Given the description of an element on the screen output the (x, y) to click on. 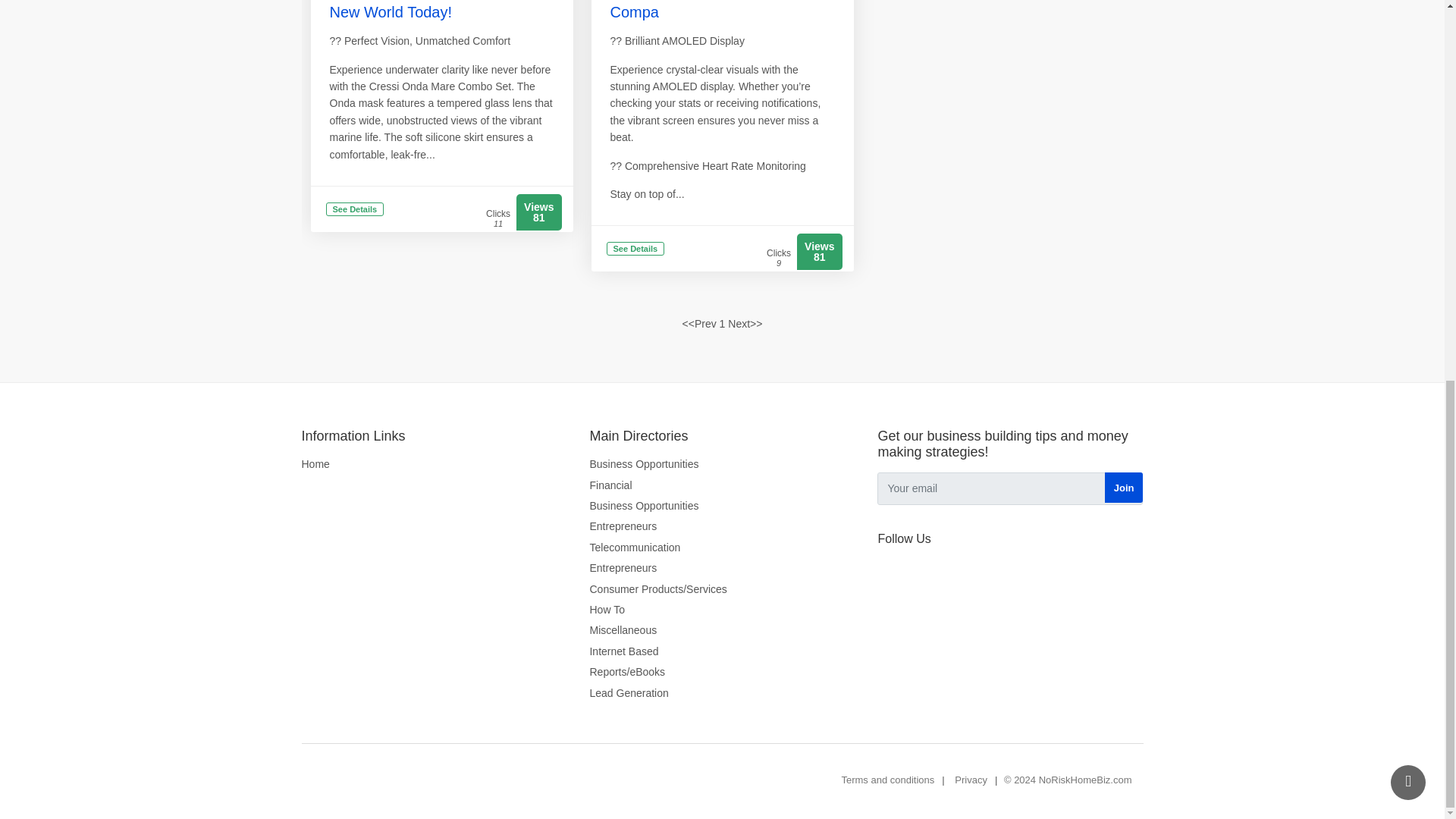
Information Links (434, 436)
Join (1123, 487)
Home (315, 463)
Miscellaneous (622, 629)
See Details (636, 249)
Business Opportunities (643, 505)
See Details (355, 210)
Business Opportunities (643, 463)
Financial (610, 484)
Internet Based (623, 651)
How To (606, 609)
Entrepreneurs (622, 525)
Entrepreneurs (622, 567)
Telecommunication (634, 547)
Main Directories (721, 436)
